Given the description of an element on the screen output the (x, y) to click on. 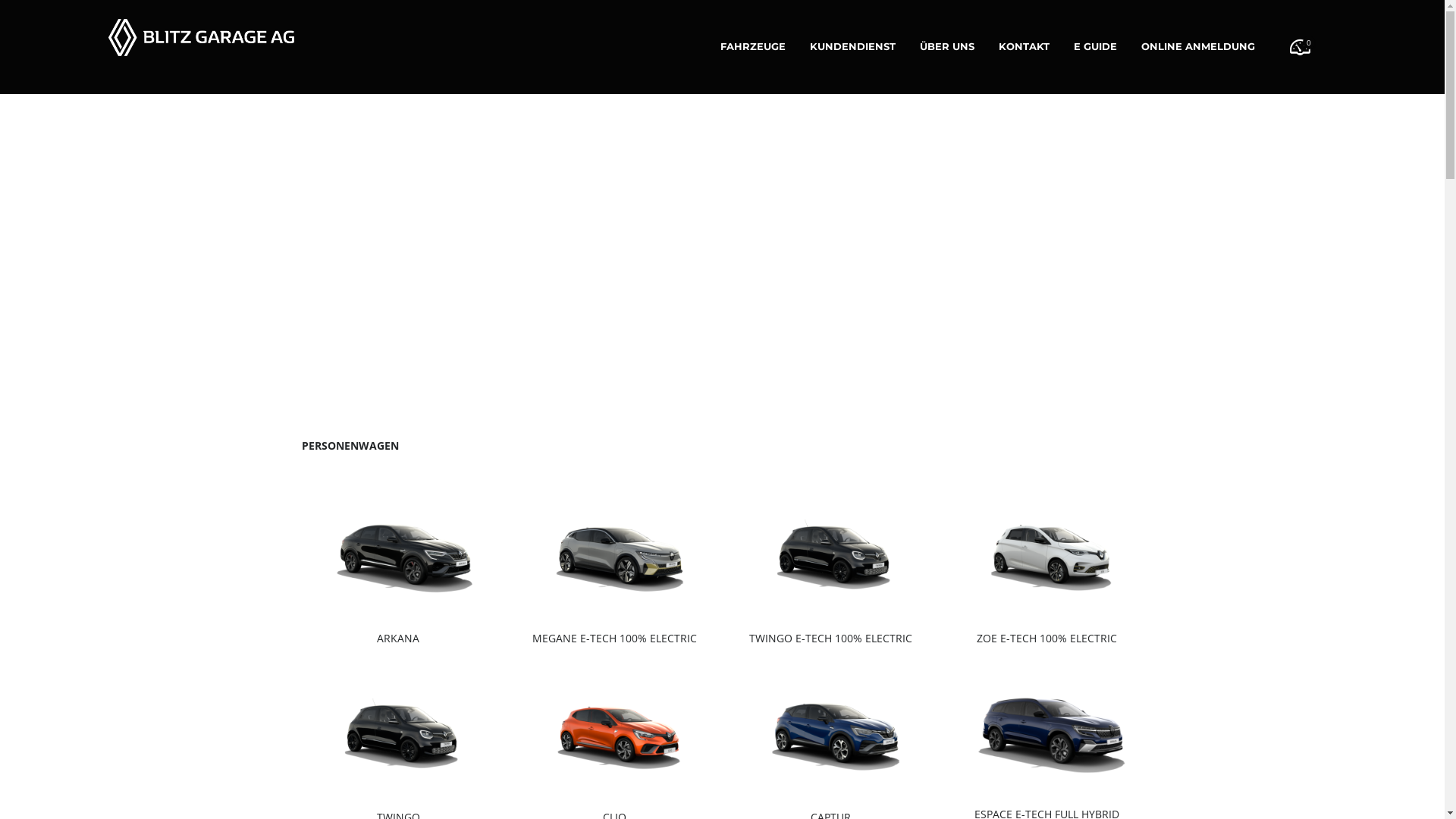
0 Element type: text (1299, 47)
megane-e-tech-electric Element type: hover (613, 548)
zoe-e-tech-electric Element type: hover (1045, 548)
Neuer Espace Element type: hover (1045, 726)
Startseite Element type: hover (201, 37)
E GUIDE Element type: text (1095, 46)
ARKANA Element type: hover (398, 548)
captur Element type: hover (830, 727)
FAHRZEUGE Element type: text (752, 46)
KONTAKT Element type: text (1023, 46)
ONLINE ANMELDUNG Element type: text (1198, 46)
clio Element type: hover (613, 727)
KUNDENDIENST Element type: text (852, 46)
twingo Element type: hover (398, 727)
twingo-e-tech-electric Element type: hover (830, 548)
